Given the description of an element on the screen output the (x, y) to click on. 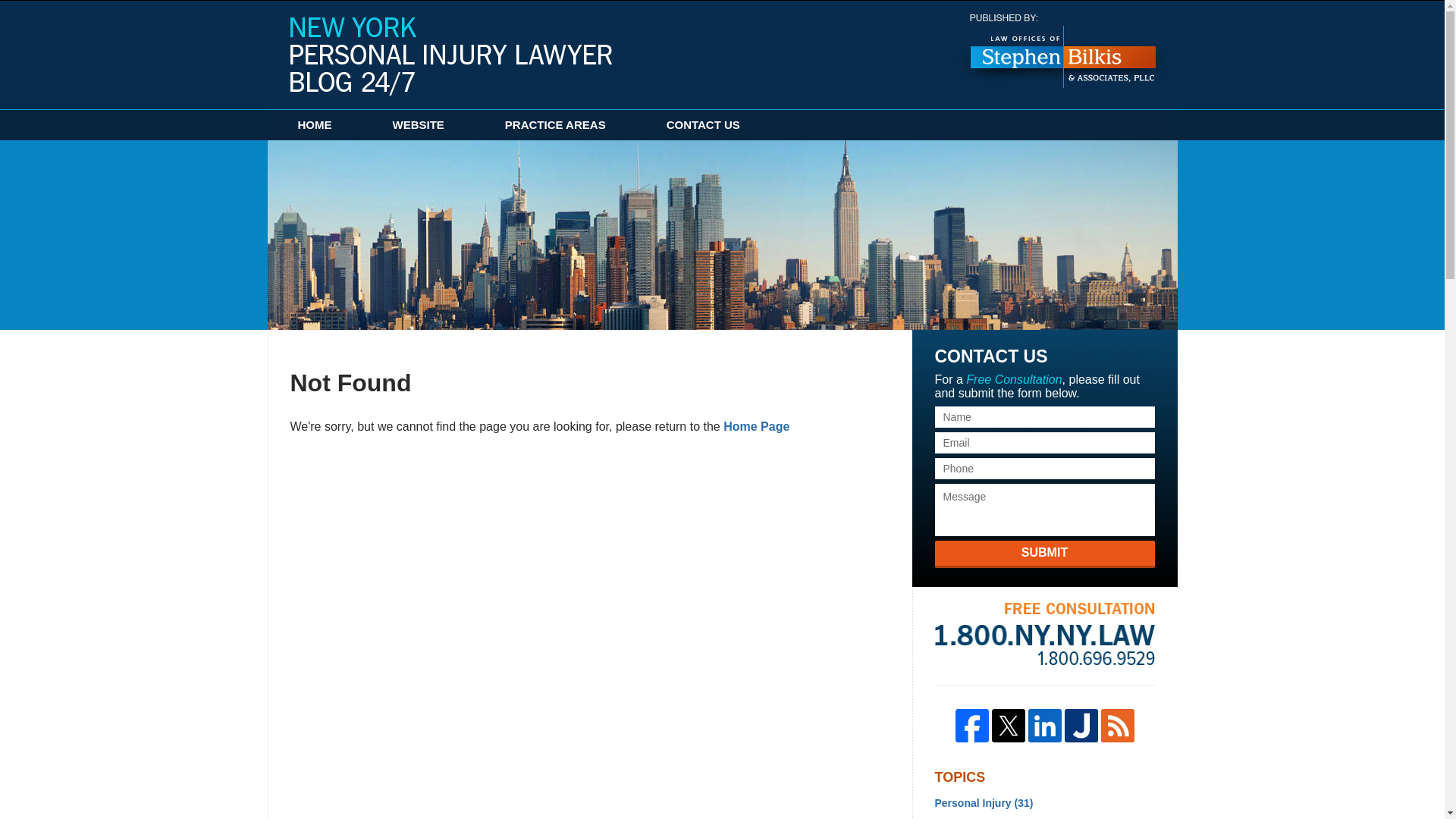
CONTACT US (703, 124)
Feed (1117, 725)
HOME (313, 124)
WEBSITE (418, 124)
Twitter (1008, 725)
Facebook (971, 725)
Justia (1080, 725)
Home Page (756, 426)
LinkedIn (1044, 725)
PRACTICE AREAS (555, 124)
SUBMIT (1044, 554)
Please enter a valid phone number. (1044, 468)
